Given the description of an element on the screen output the (x, y) to click on. 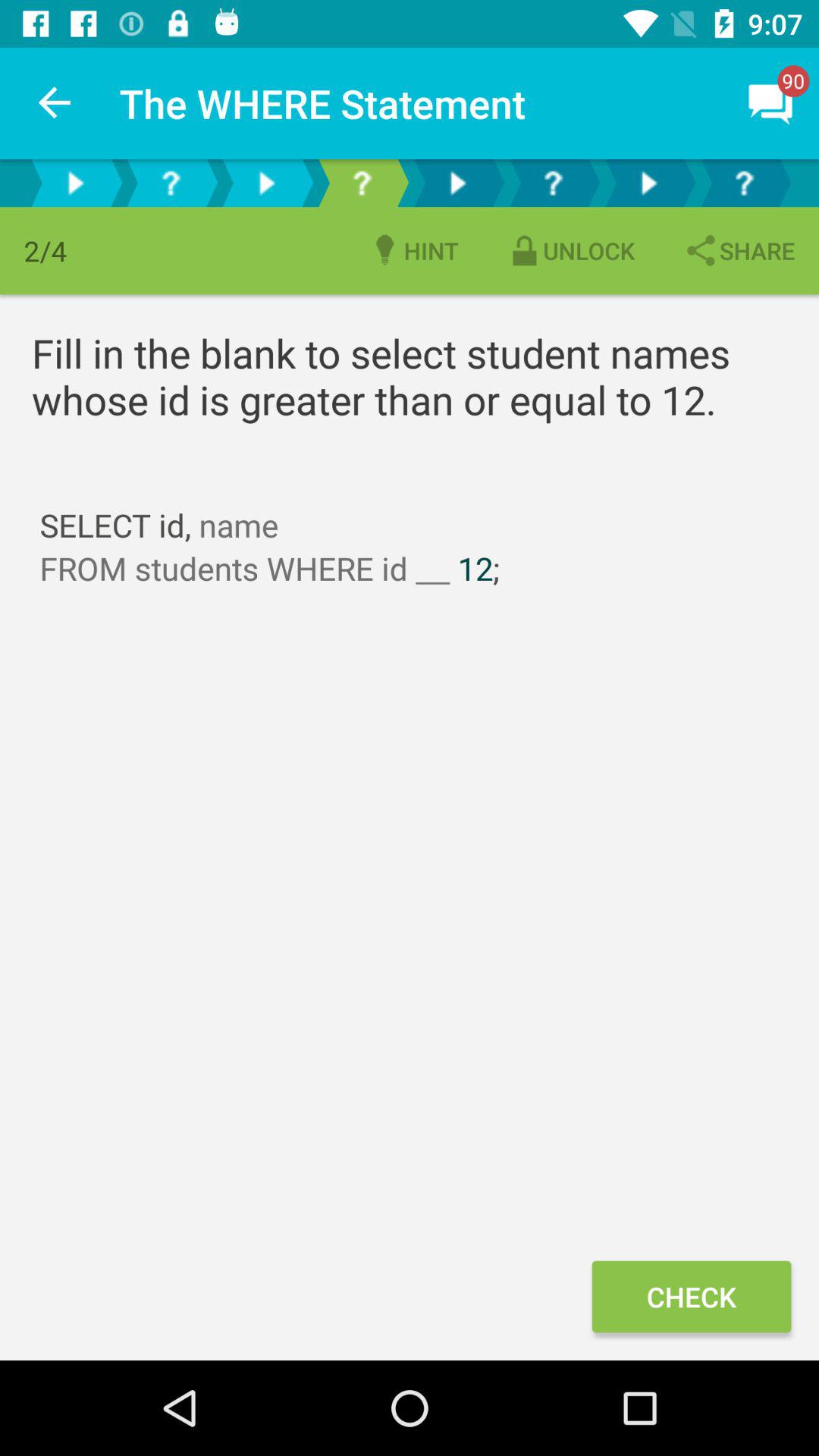
info (743, 183)
